Given the description of an element on the screen output the (x, y) to click on. 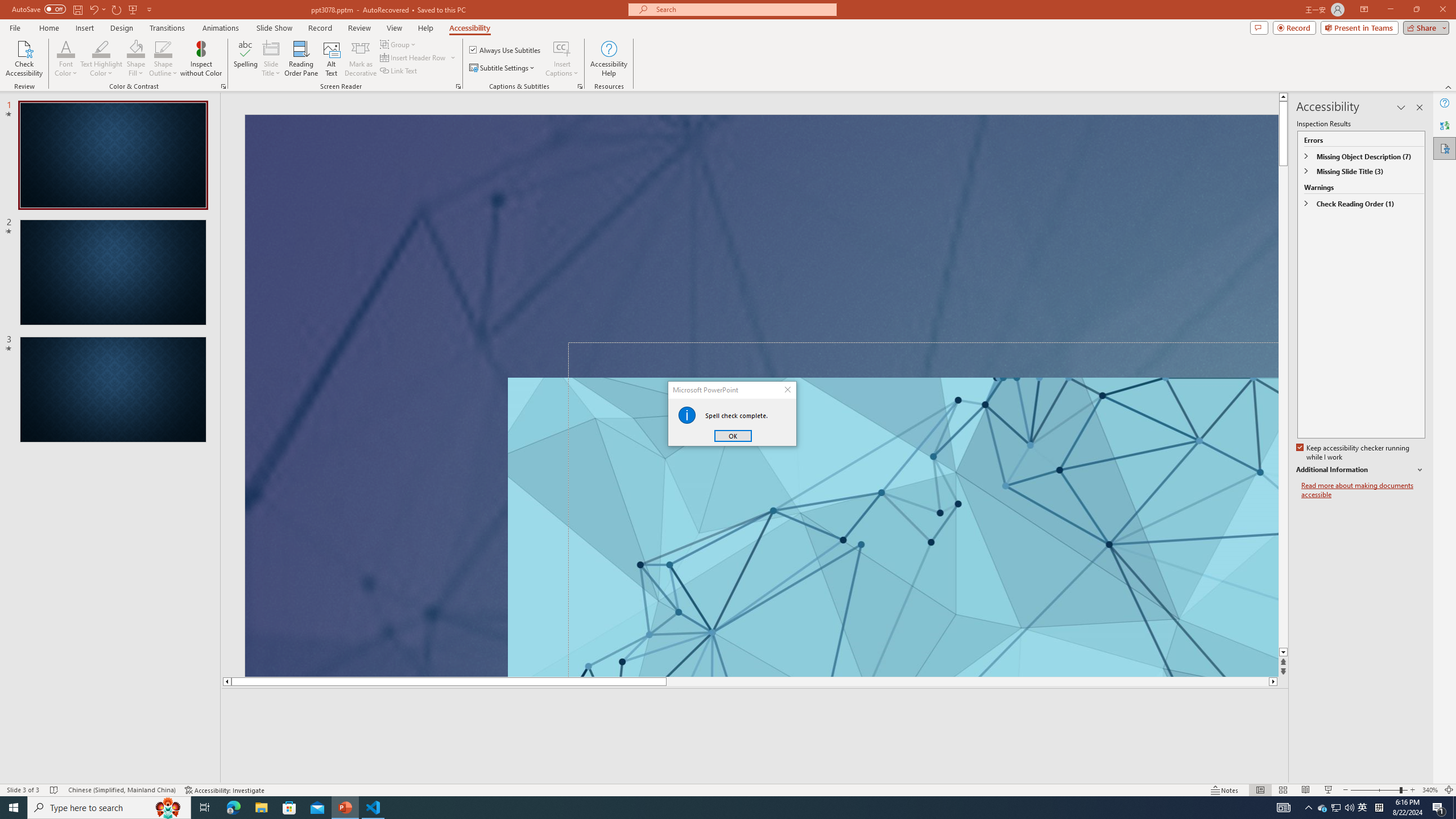
Font Color (65, 48)
OK (732, 435)
Insert Captions (561, 58)
